Given the description of an element on the screen output the (x, y) to click on. 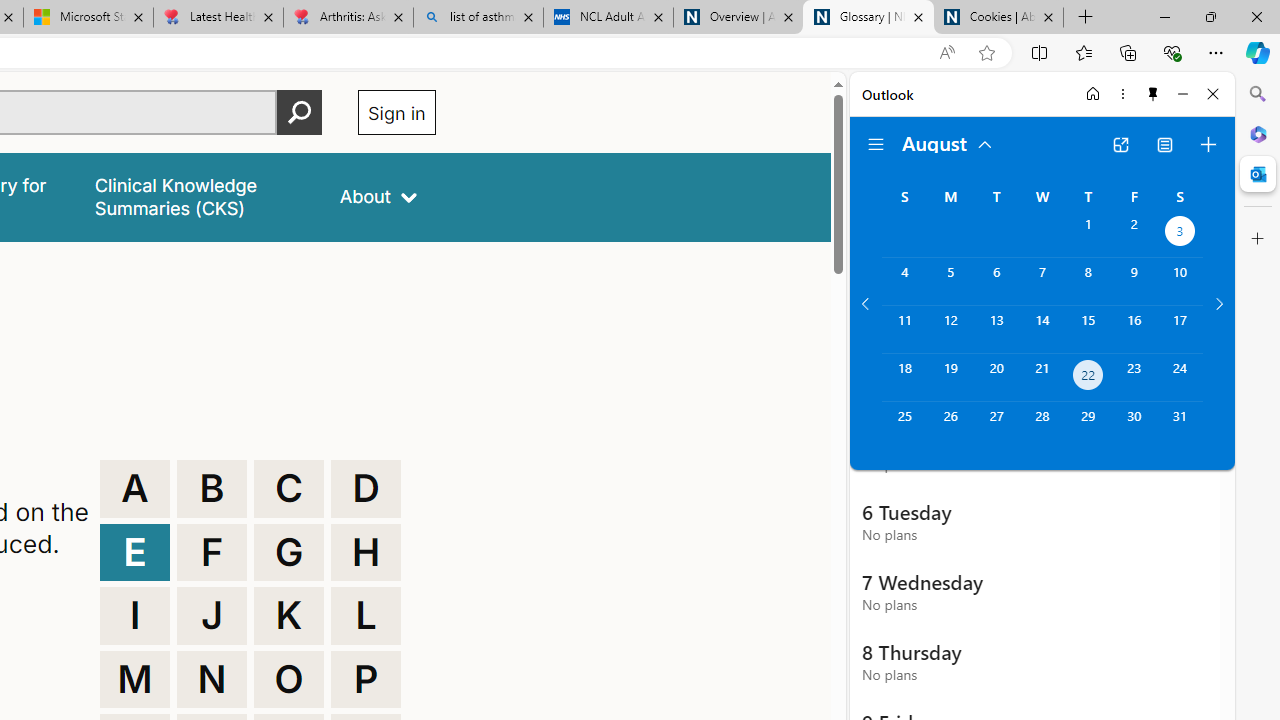
Glossary | NICE (868, 17)
Thursday, August 8, 2024.  (1088, 281)
Wednesday, August 14, 2024.  (1042, 329)
